Given the description of an element on the screen output the (x, y) to click on. 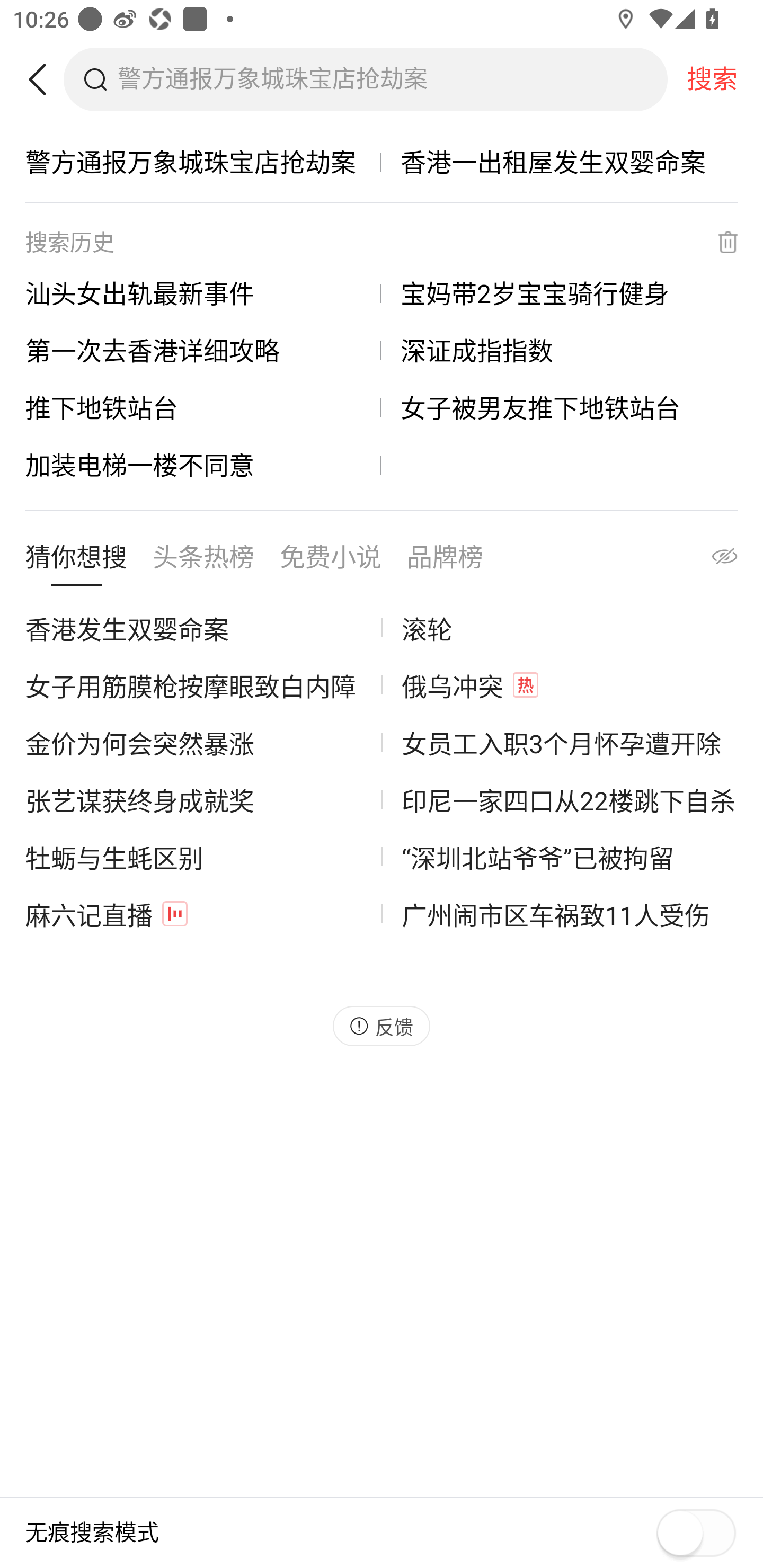
搜索框，警方通报万象城珠宝店抢劫案 (392, 79)
搜索 (711, 79)
返回 (44, 79)
警方通报万象城珠宝店抢劫案，链接, 警方通报万象城珠宝店抢劫案 (203, 162)
香港一出租屋发生双婴命案，链接, 香港一出租屋发生双婴命案 (559, 162)
删除搜索历史 (716, 242)
汕头女出轨最新事件，链接, 汕头女出轨最新事件 (203, 292)
宝妈带2岁宝宝骑行健身，链接, 宝妈带2岁宝宝骑行健身 (559, 292)
第一次去香港详细攻略，链接, 第一次去香港详细攻略 (203, 350)
深证成指指数，链接, 深证成指指数 (559, 350)
推下地铁站台，链接, 推下地铁站台 (203, 407)
女子被男友推下地铁站台，链接, 女子被男友推下地铁站台 (559, 407)
加装电梯一楼不同意，链接, 加装电梯一楼不同意 (203, 464)
猜你想搜 按钮 已选中 (76, 561)
头条热榜 按钮 (203, 561)
免费小说 按钮 (330, 561)
品牌榜 按钮 (444, 561)
隐藏全部推荐词内容 按钮 (706, 561)
反馈, 按钮 (381, 1025)
